Given the description of an element on the screen output the (x, y) to click on. 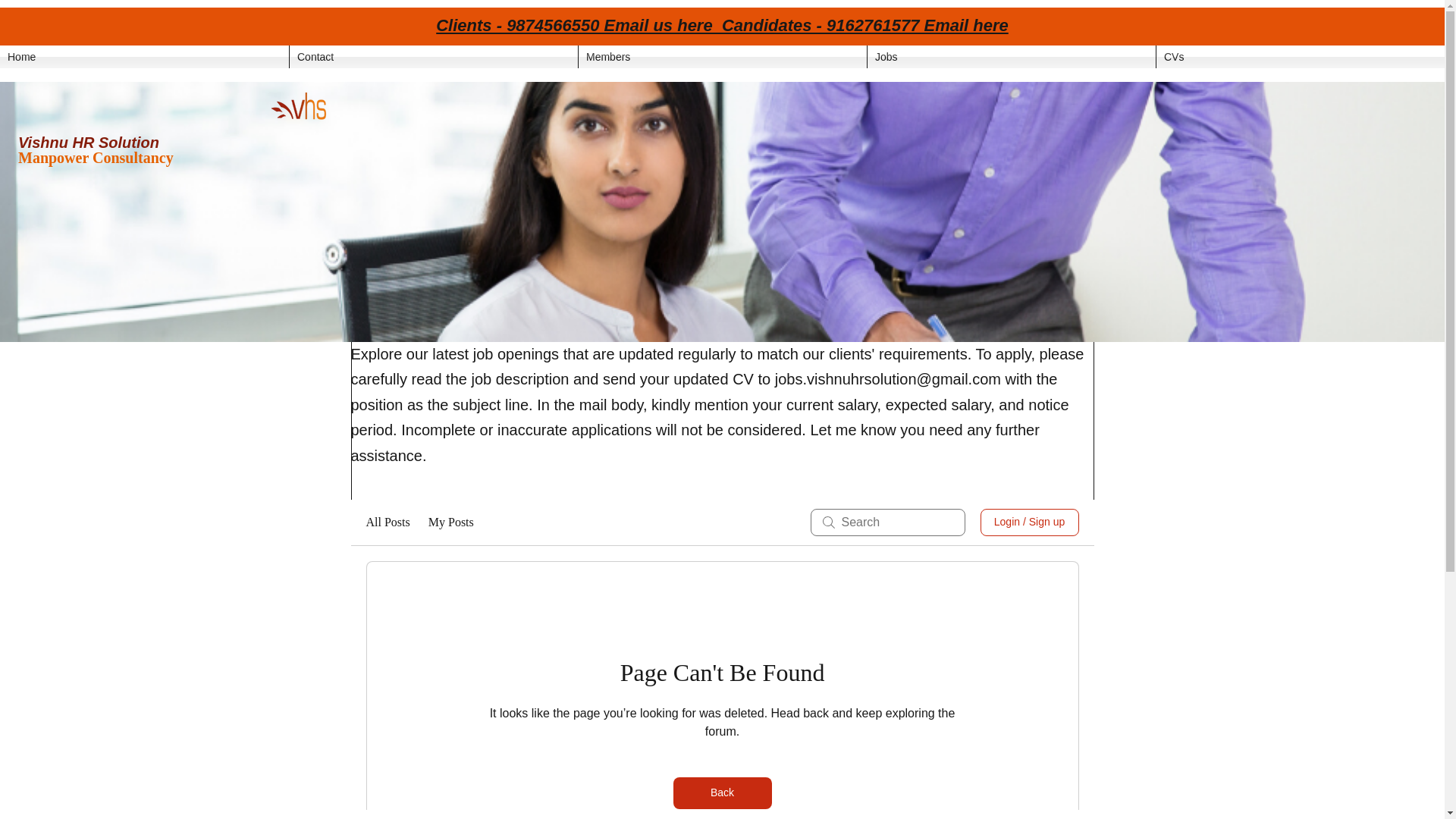
Back (721, 793)
Members (722, 56)
My Posts (451, 522)
Home (144, 56)
All Posts (387, 522)
Jobs (1011, 56)
Vishnu HR Solution (87, 142)
Contact (433, 56)
